Given the description of an element on the screen output the (x, y) to click on. 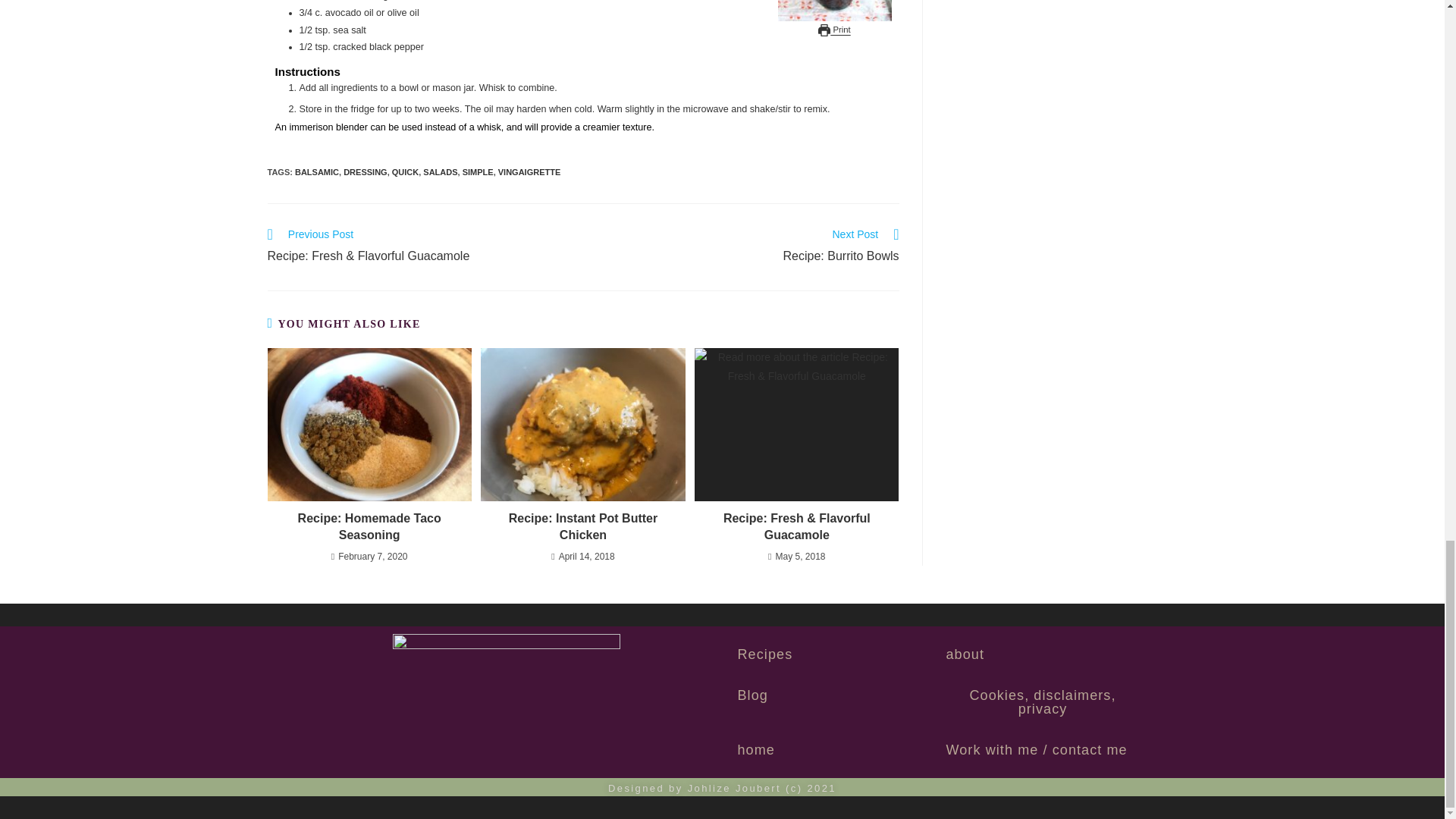
Blog (751, 695)
Print (834, 29)
Recipe: Instant Pot Butter Chicken (582, 527)
SIMPLE (478, 171)
Recipe: Homemade Taco Seasoning (368, 527)
SALADS (440, 171)
Cookies, disclaimers, privacy (748, 246)
BALSAMIC (1043, 701)
VINGAIGRETTE (317, 171)
